Given the description of an element on the screen output the (x, y) to click on. 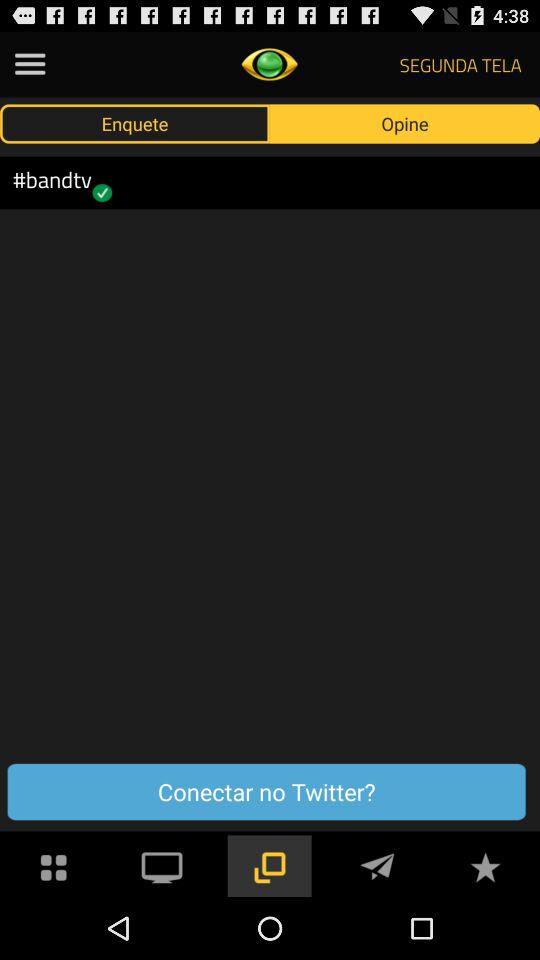
more apps (54, 865)
